Given the description of an element on the screen output the (x, y) to click on. 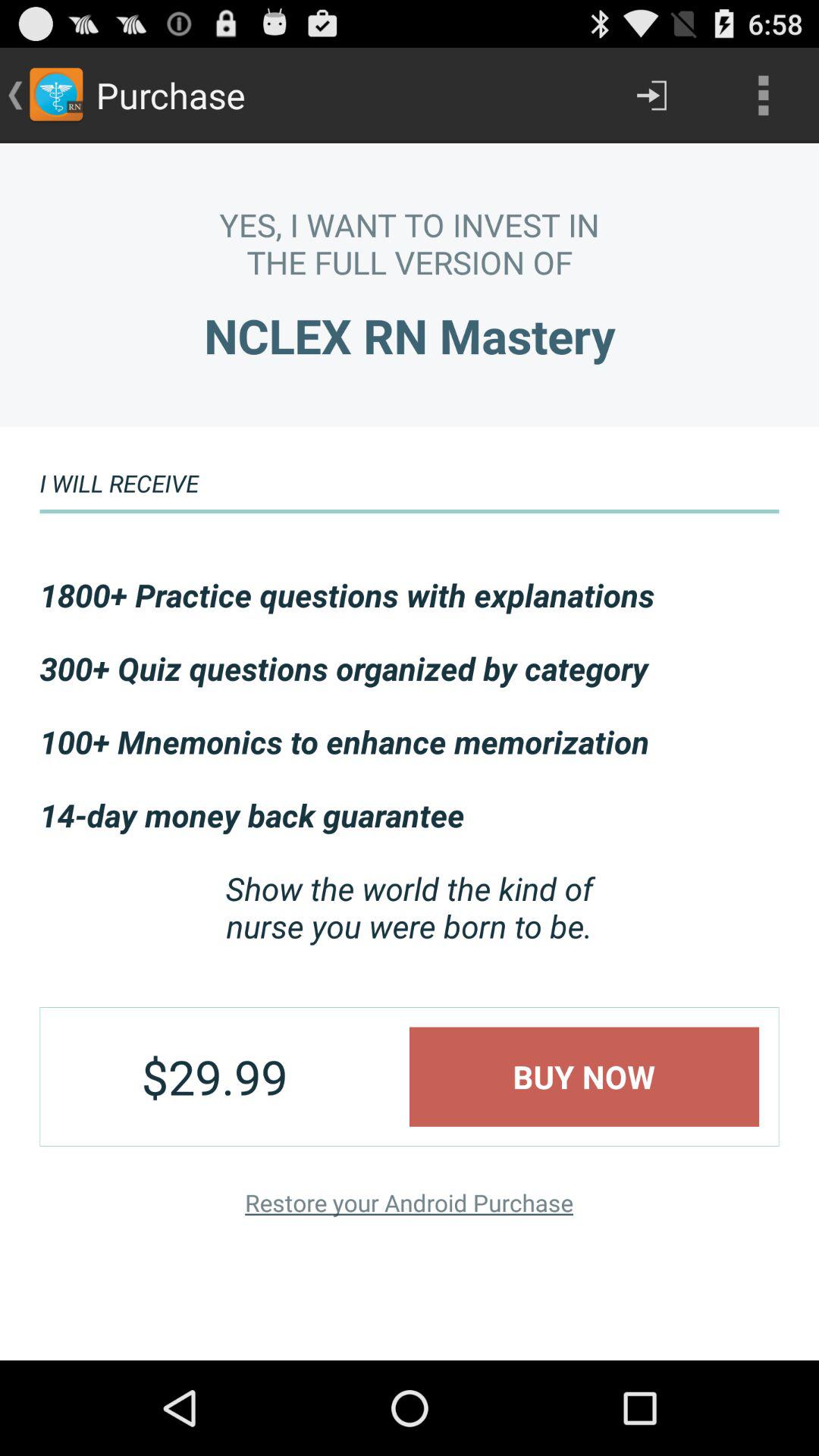
launch the app next to the $29.99 icon (584, 1076)
